Given the description of an element on the screen output the (x, y) to click on. 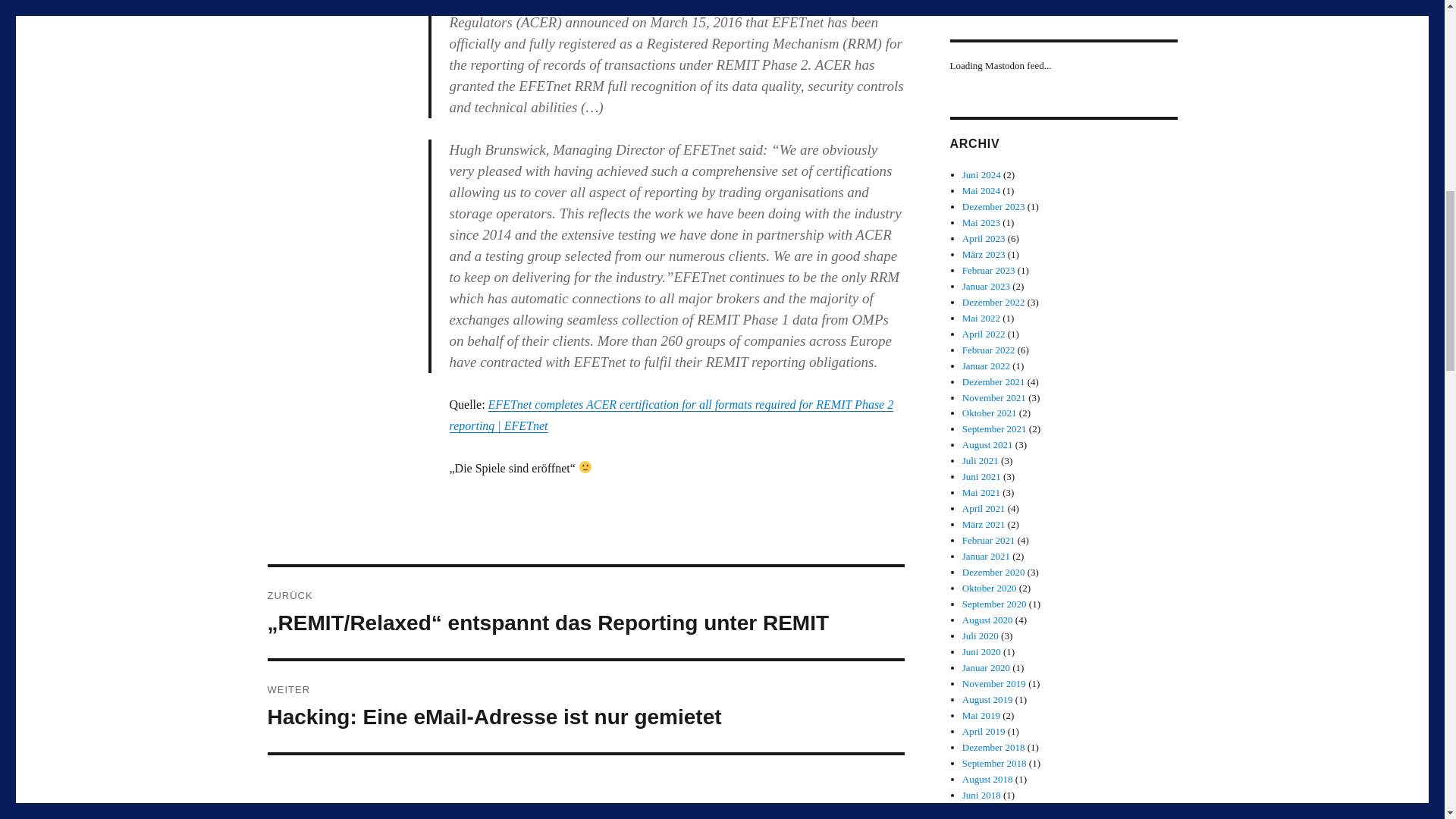
April 2023 (984, 238)
Dezember 2023 (993, 206)
Juni 2024 (981, 174)
Februar 2023 (988, 270)
Januar 2023 (986, 285)
Mai 2024 (981, 190)
Mai 2022 (981, 317)
Dezember 2022 (993, 301)
Software Entwicklung (313, 2)
Mai 2023 (981, 222)
